Given the description of an element on the screen output the (x, y) to click on. 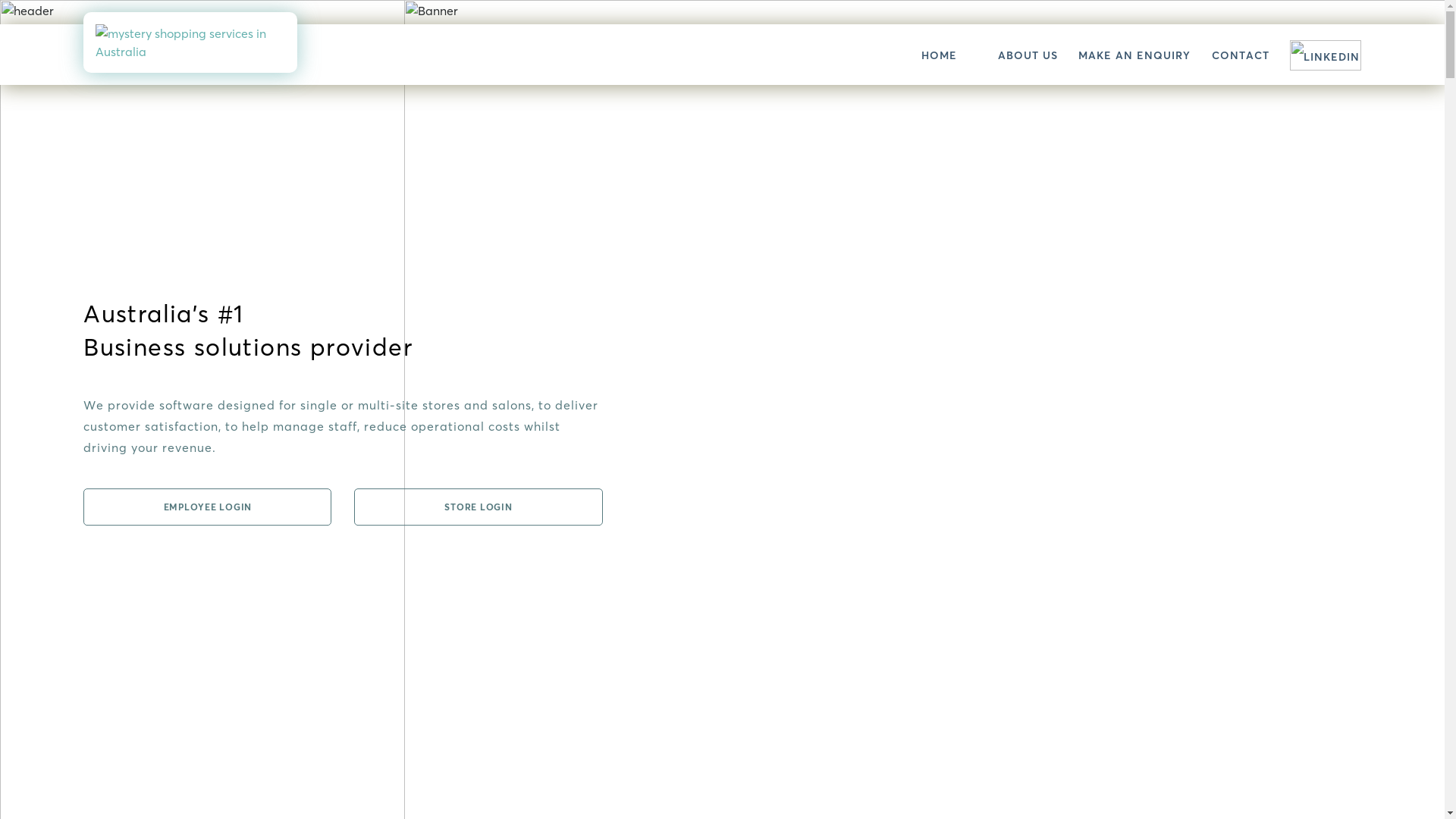
linkedin Element type: hover (1325, 55)
ABOUT US Element type: text (1027, 55)
EMPLOYEE LOGIN Element type: text (207, 506)
MAKE AN ENQUIRY Element type: text (1134, 55)
HOME Element type: text (939, 55)
STORE LOGIN Element type: text (478, 506)
CONTACT Element type: text (1240, 55)
secret shopper in Australia Element type: hover (190, 42)
